Given the description of an element on the screen output the (x, y) to click on. 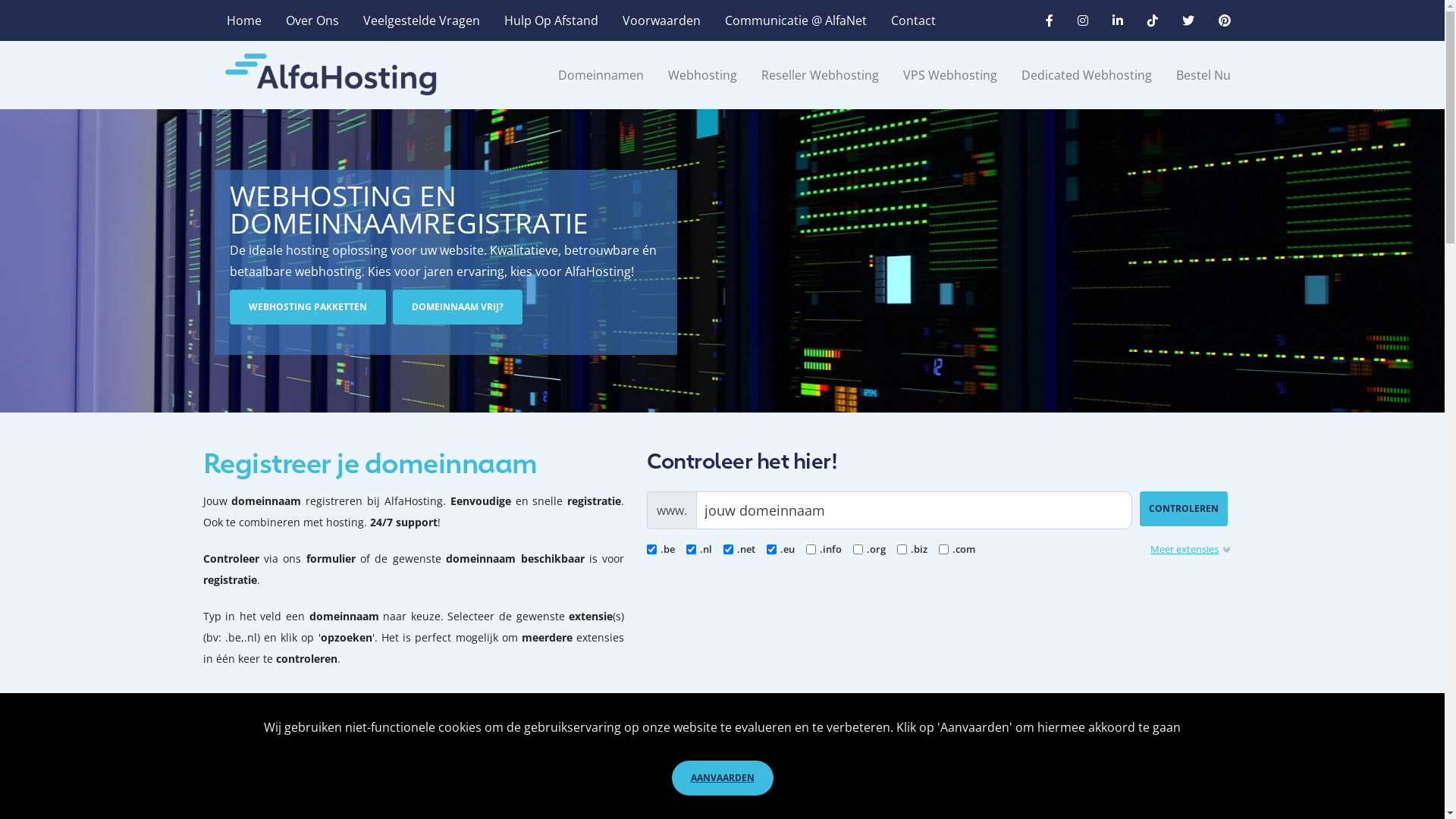
Hulp Op Afstand Element type: text (550, 20)
Pinterest Element type: hover (1217, 20)
Meer extensies Element type: text (1190, 548)
Bestel Nu Element type: text (1196, 74)
DOMEINNAAM VRIJ? Element type: text (457, 306)
Webhosting Element type: text (701, 74)
WEBHOSTING PAKKETTEN Element type: text (307, 306)
Contact Element type: text (912, 20)
Over Ons Element type: text (311, 20)
Linked In Element type: hover (1116, 20)
Voorwaarden Element type: text (660, 20)
Facebook Element type: hover (1048, 20)
Reseller Webhosting Element type: text (820, 74)
Dedicated Webhosting Element type: text (1085, 74)
Veelgestelde Vragen Element type: text (420, 20)
TikTok Element type: hover (1151, 20)
CONTROLEREN Element type: text (1183, 508)
Instagram Element type: hover (1081, 20)
Domeinnamen Element type: text (600, 74)
AANVAARDEN Element type: text (722, 777)
Home Element type: text (243, 20)
Communicatie @ AlfaNet Element type: text (795, 20)
VPS Webhosting Element type: text (949, 74)
Twitter Element type: hover (1187, 20)
